Given the description of an element on the screen output the (x, y) to click on. 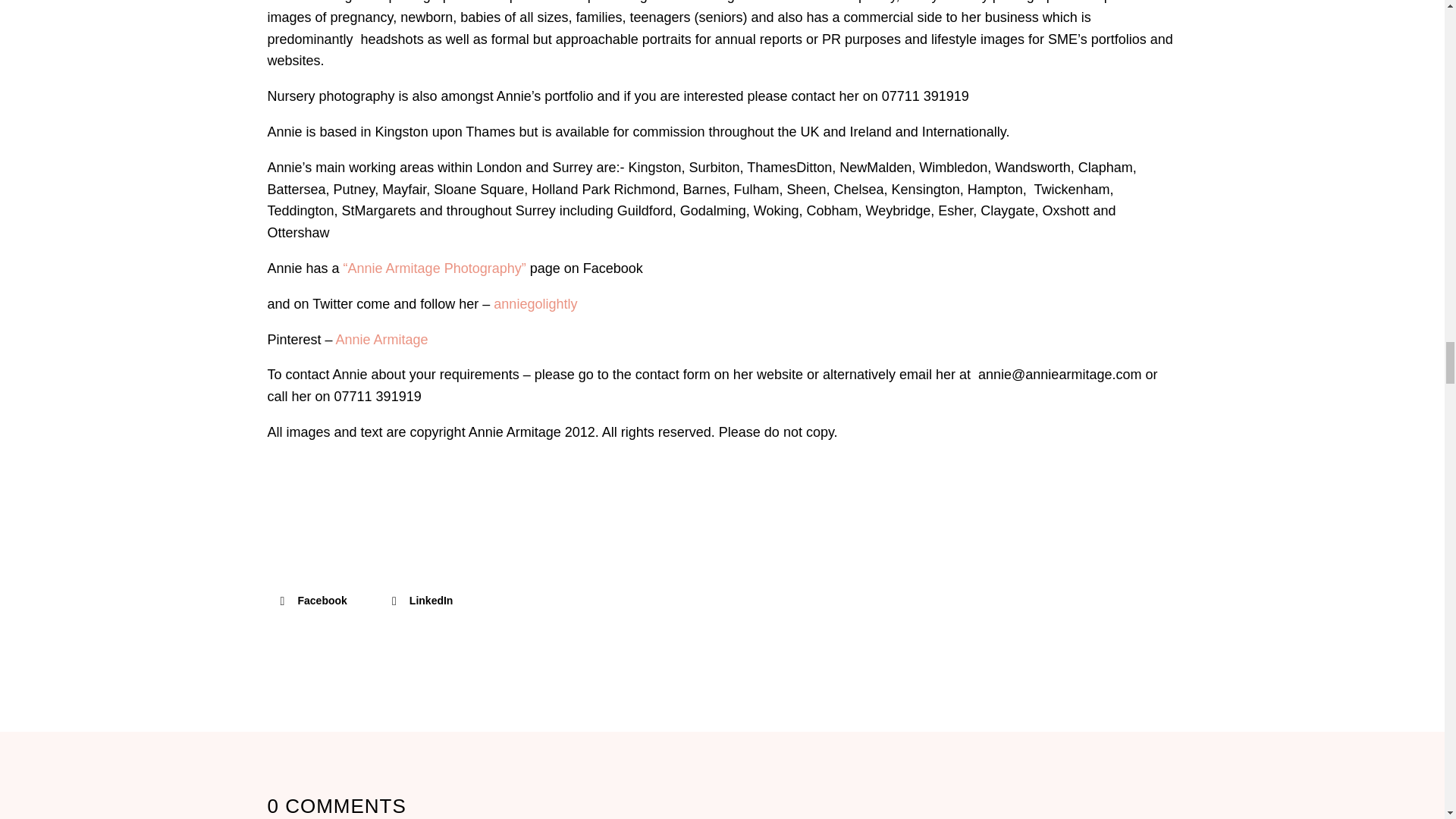
Annie Armitage Photography (434, 268)
Twitter (534, 304)
Annie Armitage on Pinterest (382, 339)
